Given the description of an element on the screen output the (x, y) to click on. 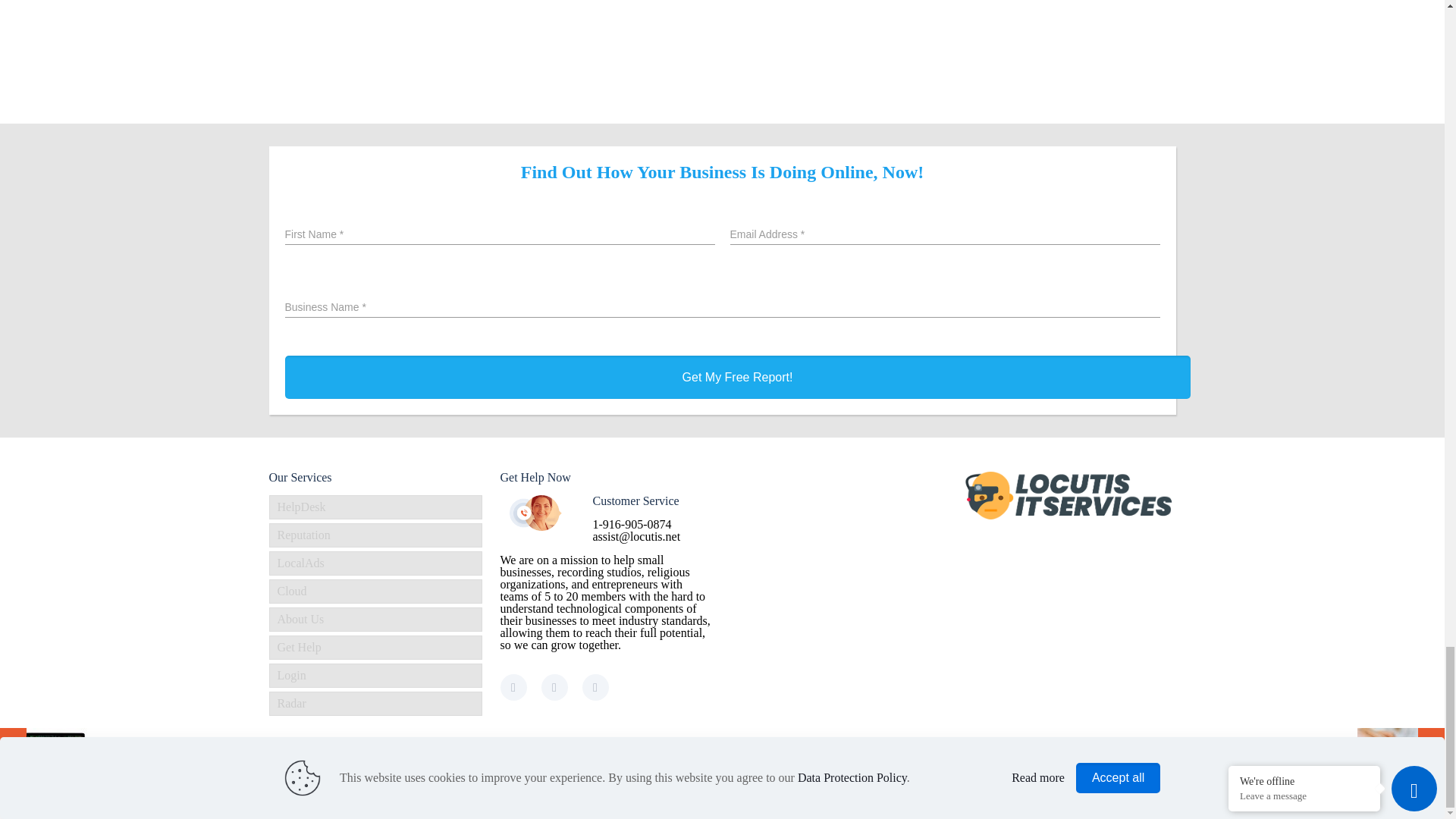
LinkedIn (1152, 779)
YouTube (1132, 779)
Get My Free Report! (738, 376)
Get My Free Report! (738, 376)
Facebook (1111, 779)
